Given the description of an element on the screen output the (x, y) to click on. 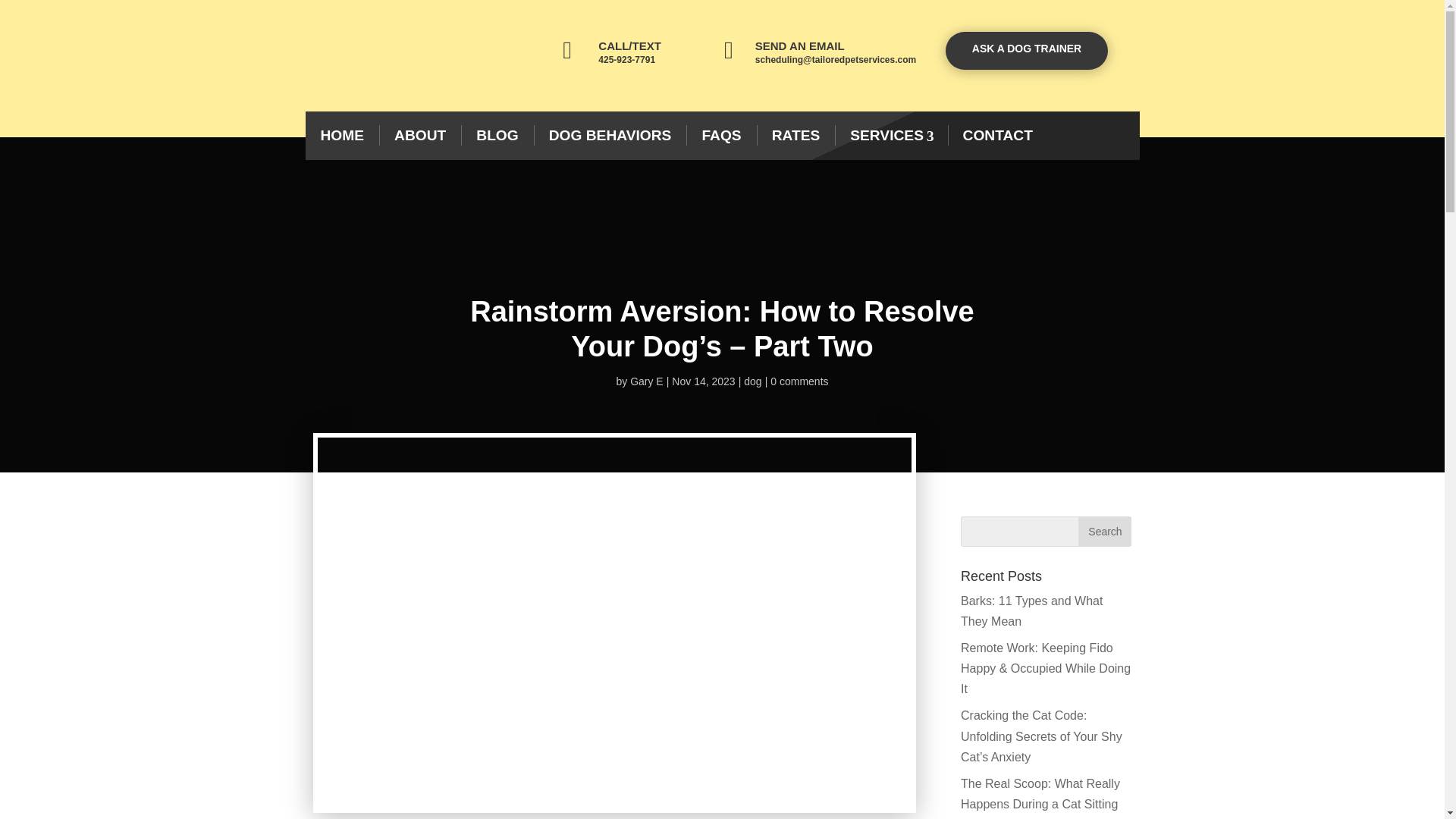
Gary E (646, 381)
ABOUT (419, 135)
Search (1104, 531)
SERVICES (890, 135)
DOG BEHAVIORS (610, 135)
Tailored Pet Services Logo 070220 (398, 56)
CONTACT (997, 135)
RATES (796, 135)
Barks: 11 Types and What They Mean (1031, 611)
HOME (341, 135)
Posts by Gary E (646, 381)
BLOG (496, 135)
dog (752, 381)
0 comments (799, 381)
